Given the description of an element on the screen output the (x, y) to click on. 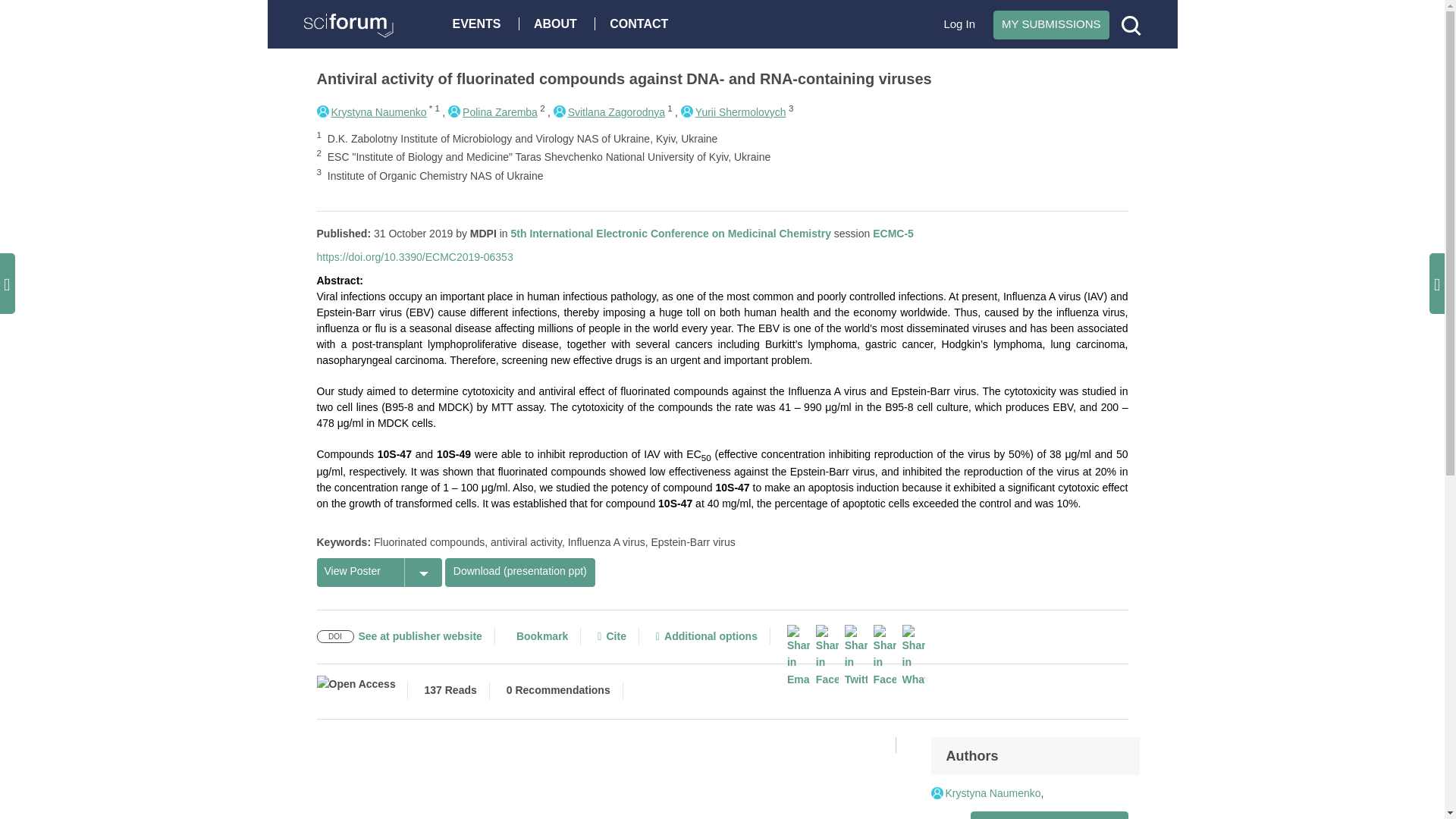
Svitlana Zagorodnya (609, 111)
MY SUBMISSIONS (1050, 24)
ABOUT (558, 23)
Krystyna Naumenko (371, 111)
EVENTS (480, 23)
CONTACT (641, 23)
Polina Zaremba (492, 111)
